Given the description of an element on the screen output the (x, y) to click on. 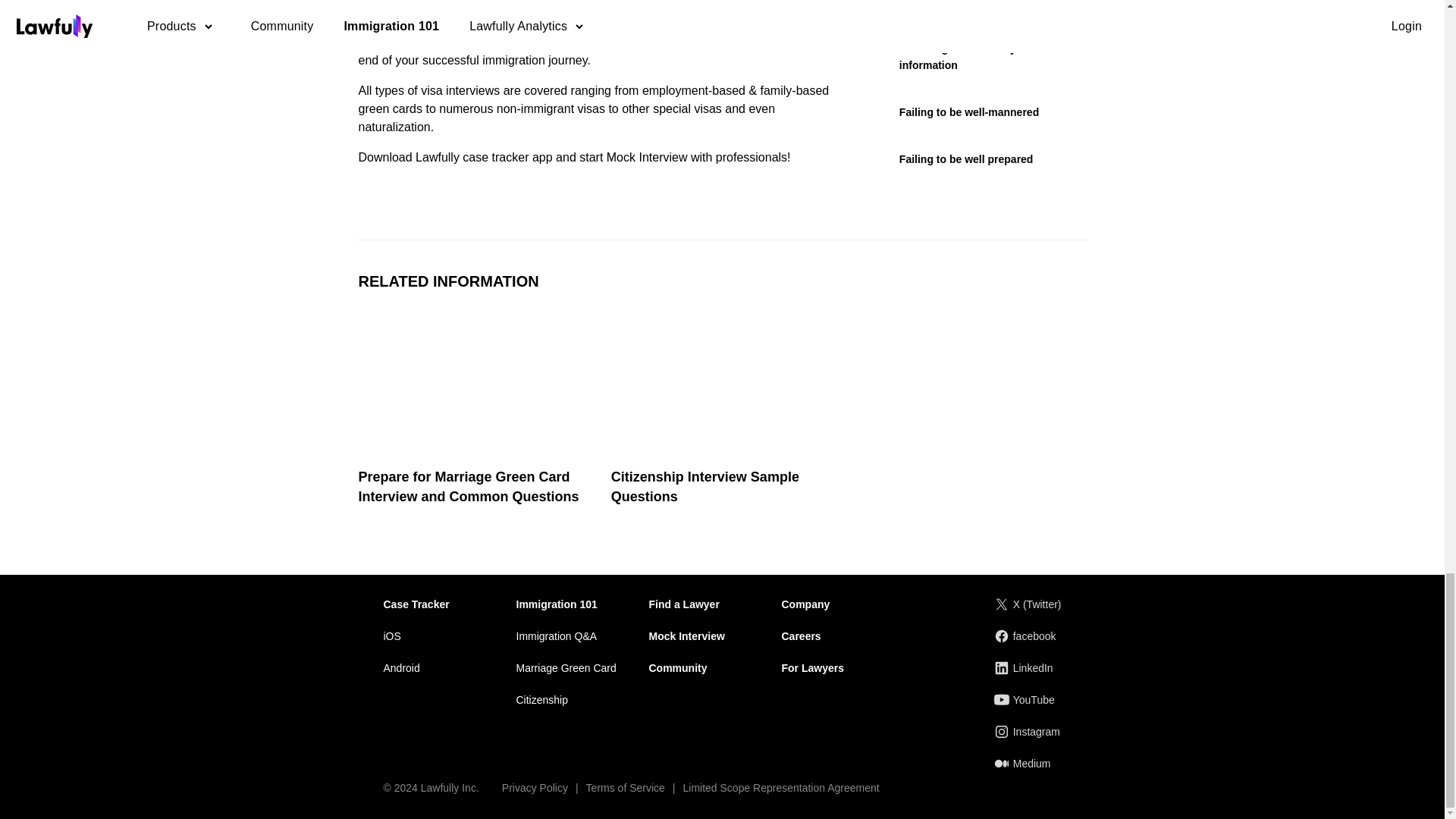
Instagram (1026, 731)
Youtube (1026, 699)
Immigration 101 (555, 604)
Careers (800, 635)
Find a Lawyer (684, 604)
X (1026, 604)
facebook (1026, 636)
Android (402, 667)
Medium (1026, 763)
Mock Interview (687, 635)
Case Tracker (416, 604)
Community (678, 667)
Linkedin (1026, 668)
Company (804, 604)
Facebook (1026, 636)
